Given the description of an element on the screen output the (x, y) to click on. 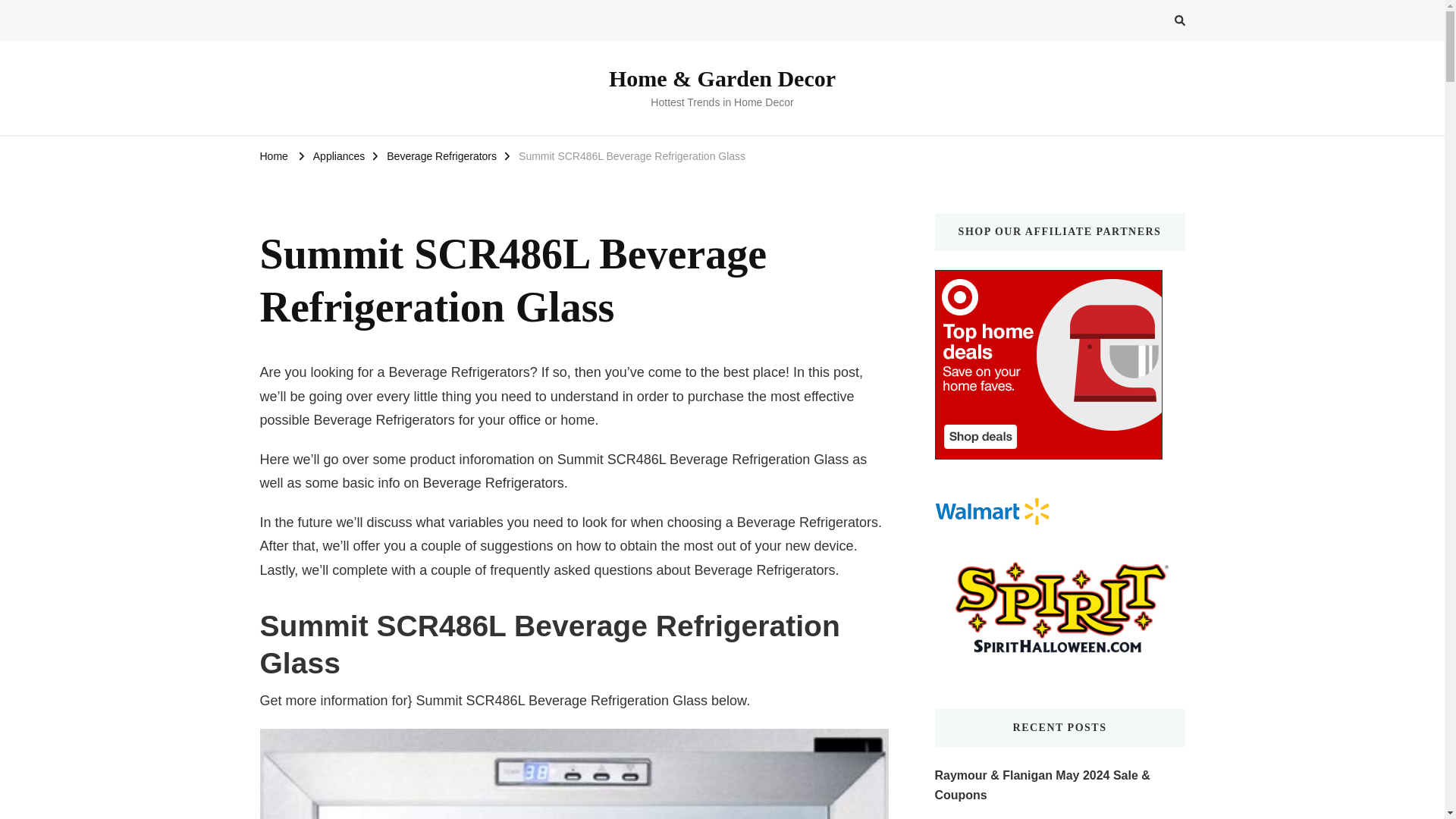
Search (1152, 22)
Summit SCR486L Beverage Refrigeration Glass (631, 155)
Spirit Halloween Logo (1059, 557)
Appliances (339, 155)
Beverage Refrigerators (441, 155)
Summit SCR486L Beverage Refrigeration Glass (573, 773)
Home (272, 155)
